Given the description of an element on the screen output the (x, y) to click on. 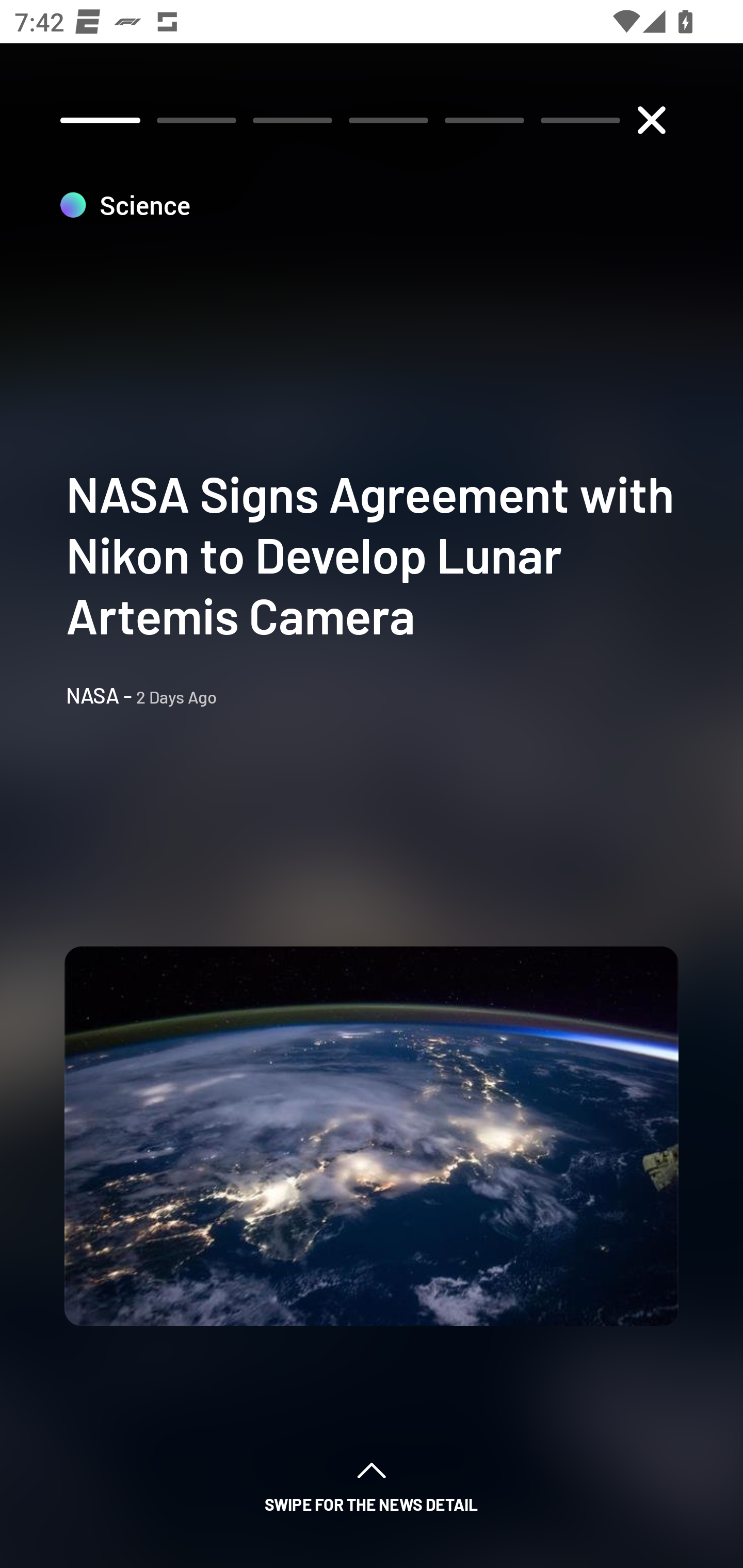
Close Highlights (651, 119)
